Given the description of an element on the screen output the (x, y) to click on. 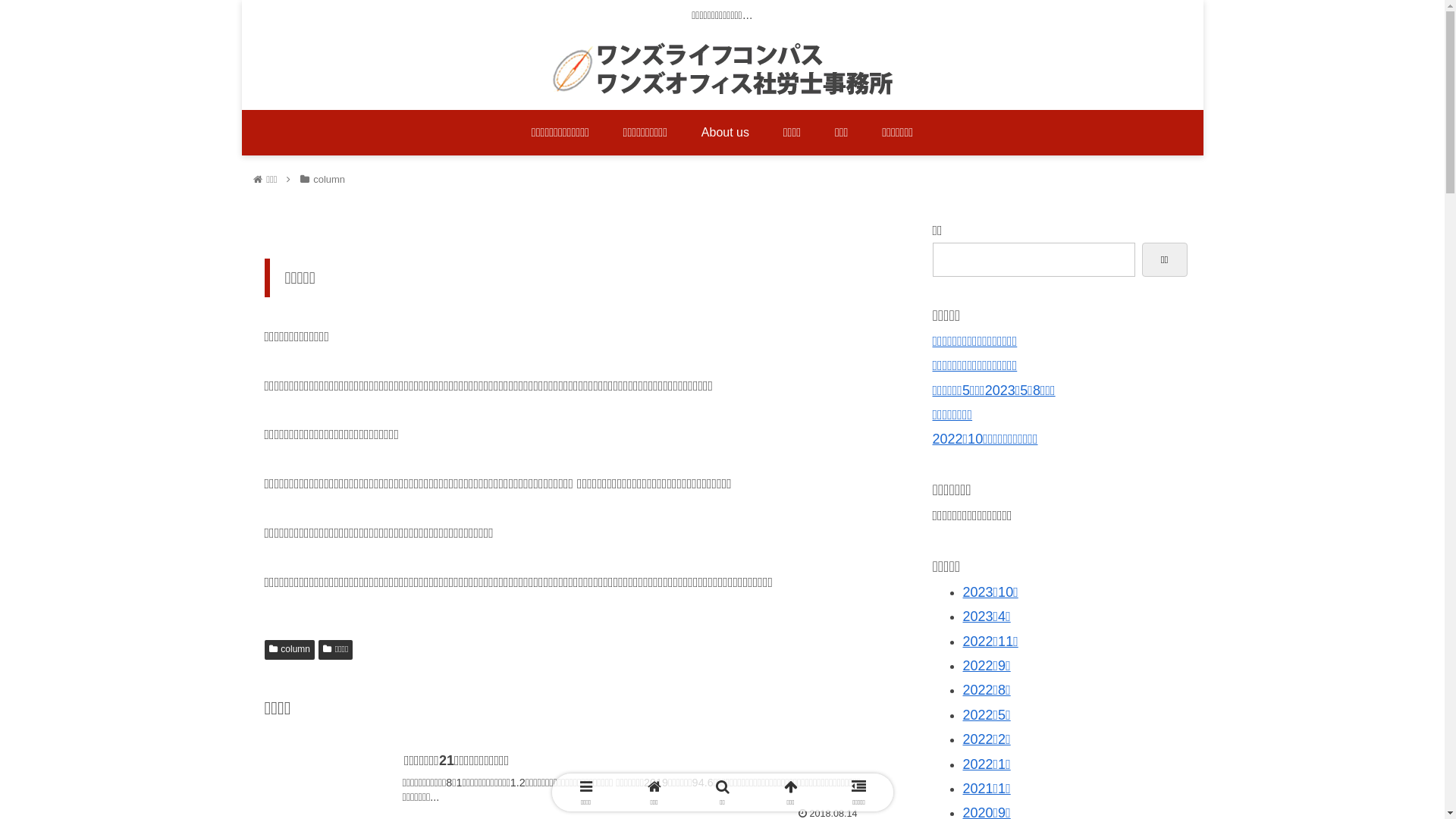
column Element type: text (328, 179)
About us Element type: text (724, 132)
column Element type: text (288, 649)
